Given the description of an element on the screen output the (x, y) to click on. 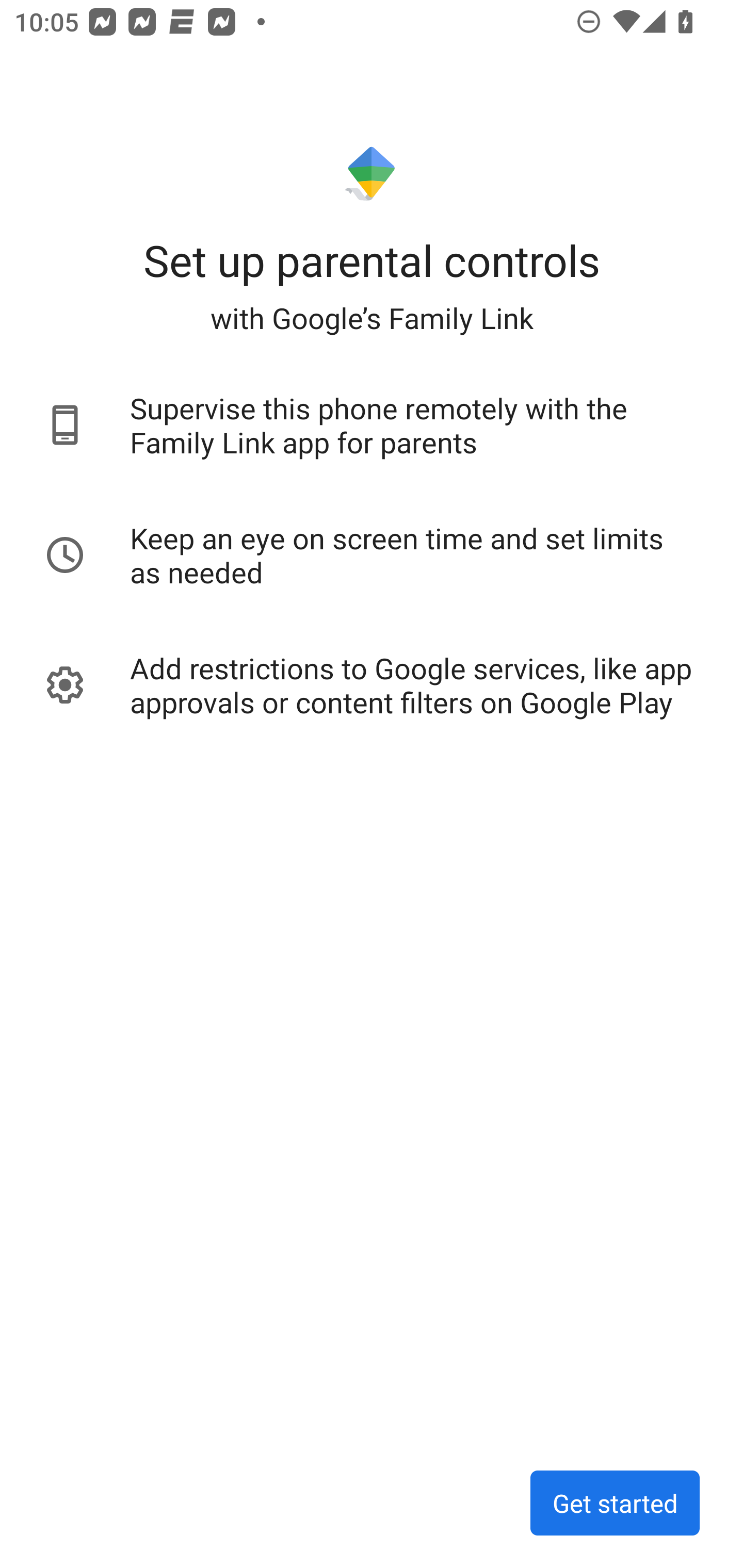
Get started (614, 1502)
